Given the description of an element on the screen output the (x, y) to click on. 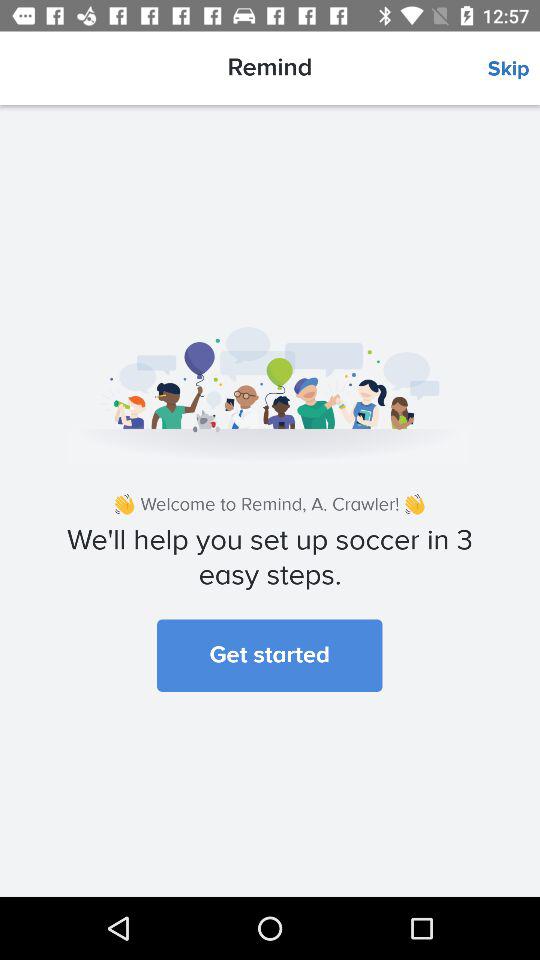
turn off icon to the right of the remind (513, 69)
